Given the description of an element on the screen output the (x, y) to click on. 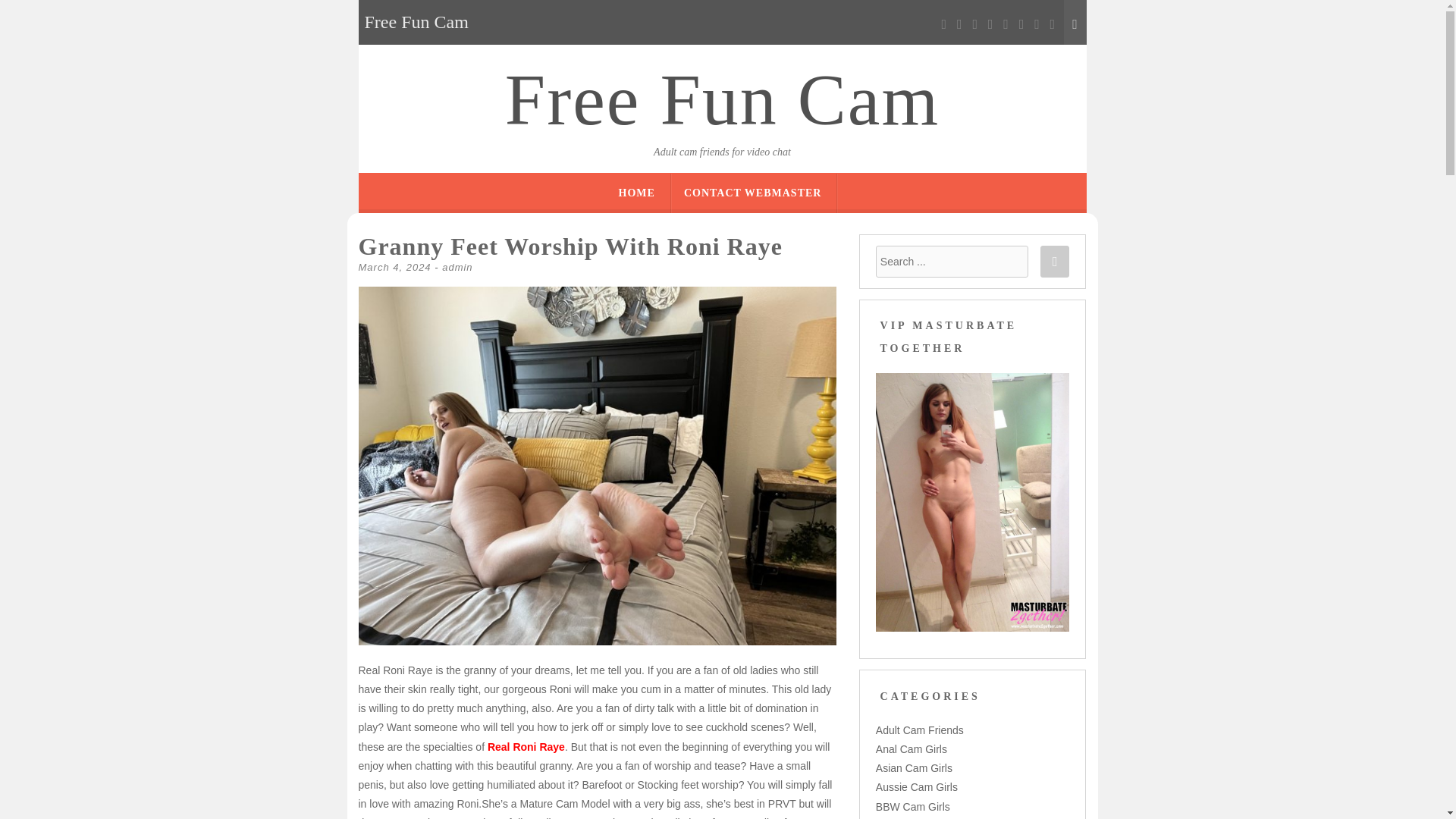
March 4, 2024 (394, 266)
CONTACT WEBMASTER (753, 192)
admin (456, 266)
Adult Cam Friends (919, 729)
SKIP TO CONTENT (775, 182)
Free Fun Cam (722, 99)
Real Roni Raye (525, 746)
HOME (636, 192)
Anal Cam Girls (911, 748)
